Given the description of an element on the screen output the (x, y) to click on. 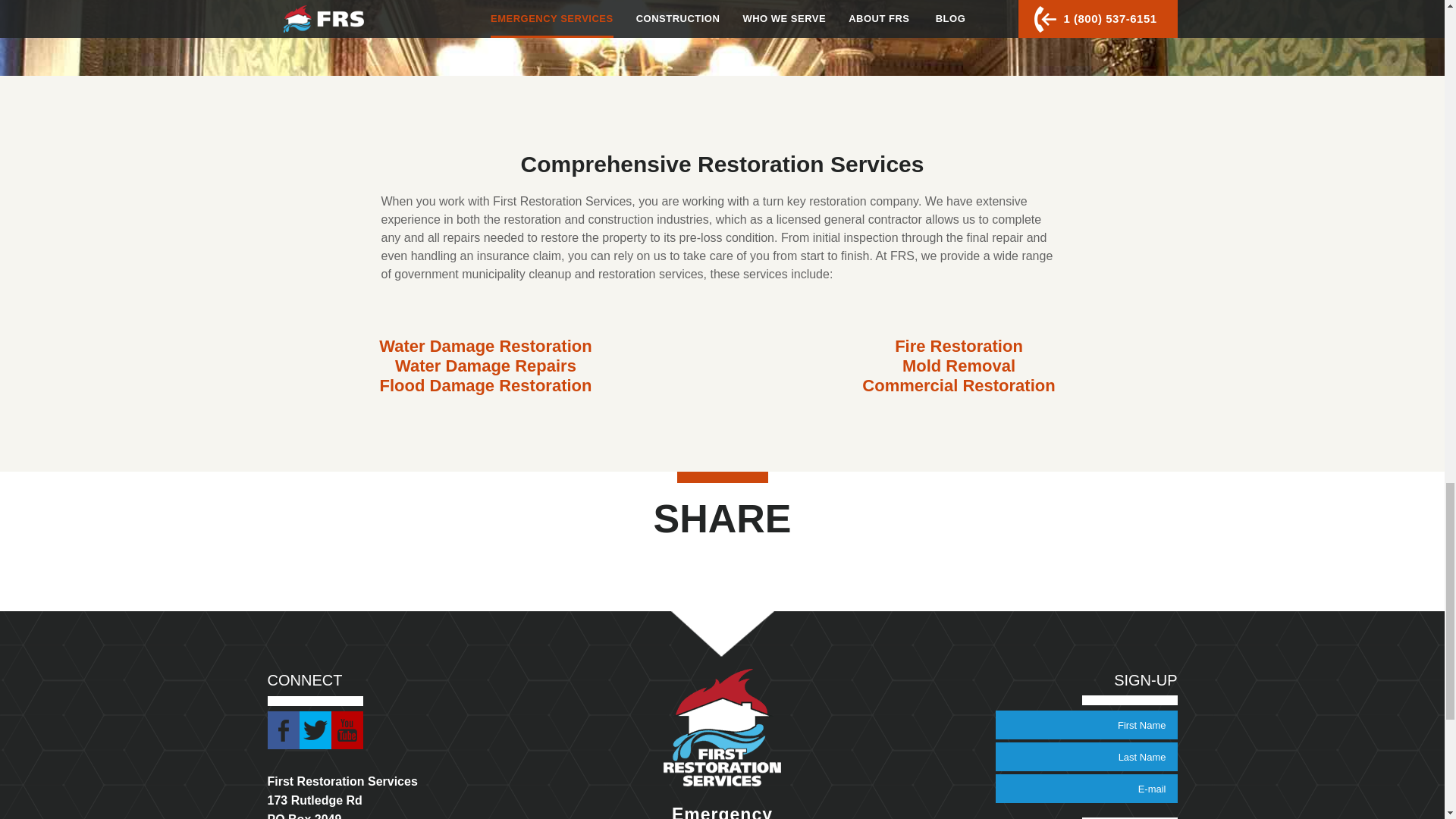
SUBMIT (1128, 818)
